Given the description of an element on the screen output the (x, y) to click on. 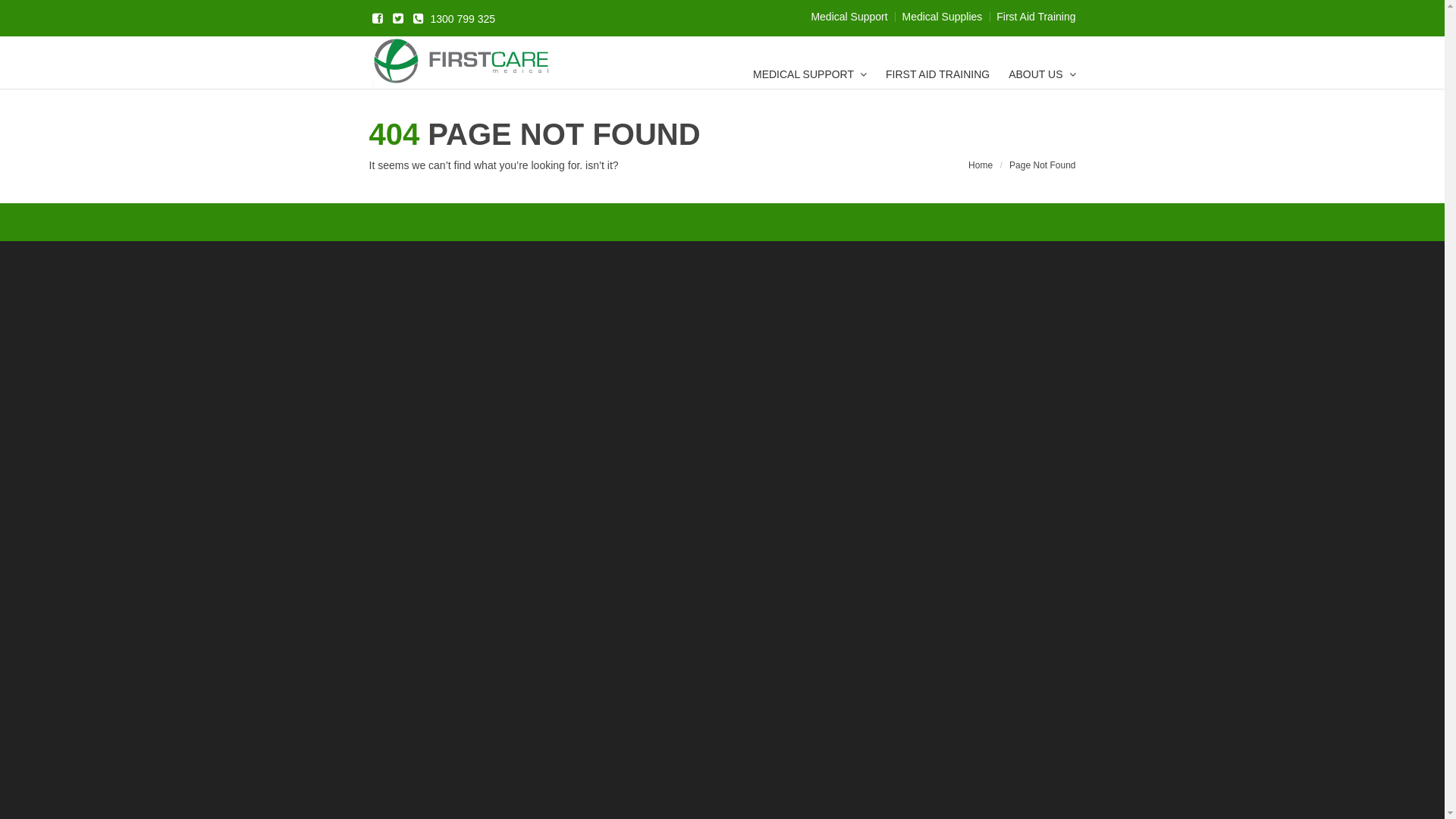
MEDICAL SUPPORT Element type: text (809, 74)
Medical Support Element type: text (848, 16)
First Care Medical Element type: hover (461, 62)
Home Element type: text (980, 164)
ABOUT US Element type: text (1041, 74)
1300 799 325 Element type: text (452, 18)
First Aid Training Element type: text (1035, 16)
Medical Supplies Element type: text (941, 16)
FIRST AID TRAINING Element type: text (937, 74)
